Given the description of an element on the screen output the (x, y) to click on. 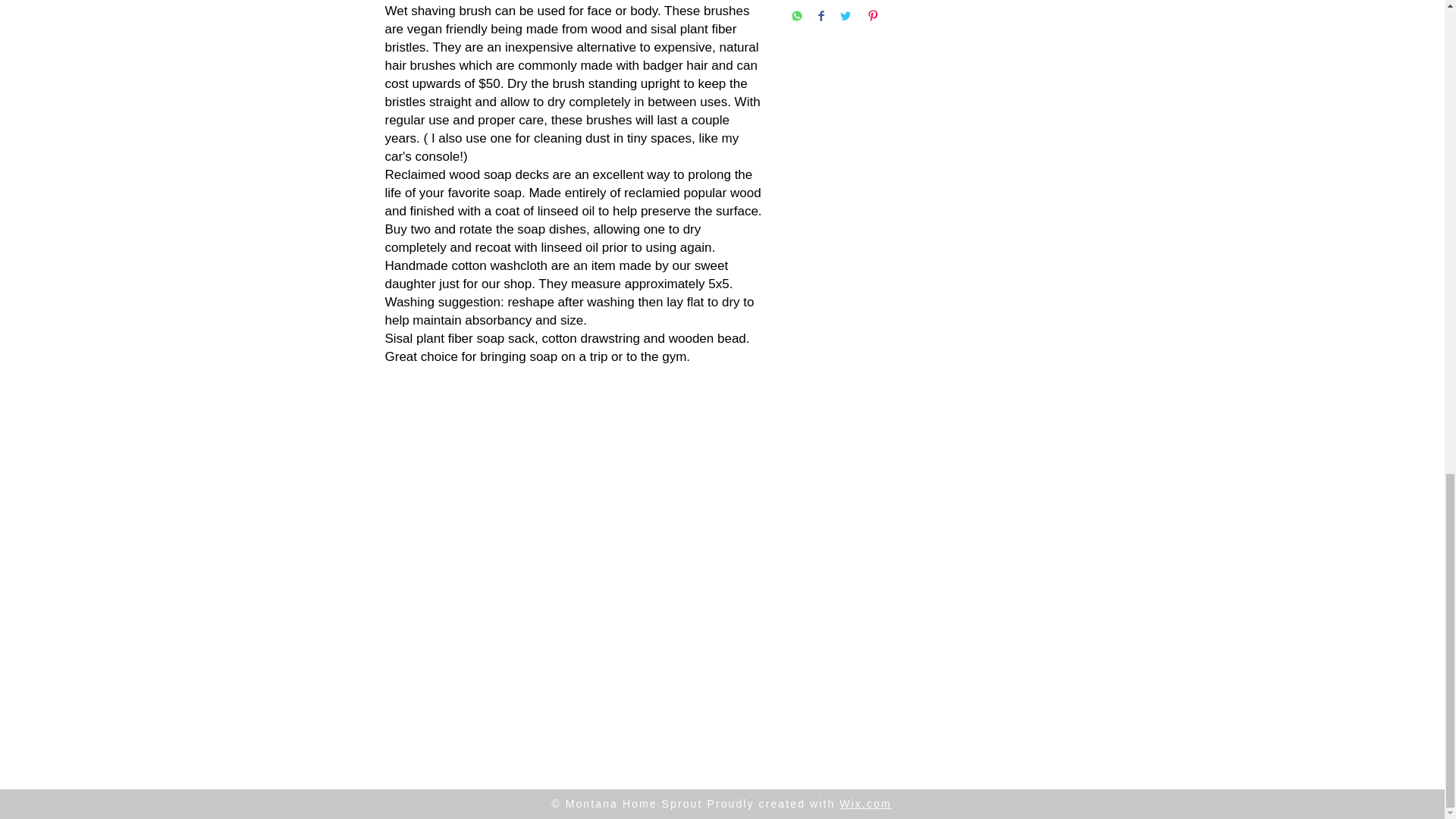
Wix.com (865, 803)
